Given the description of an element on the screen output the (x, y) to click on. 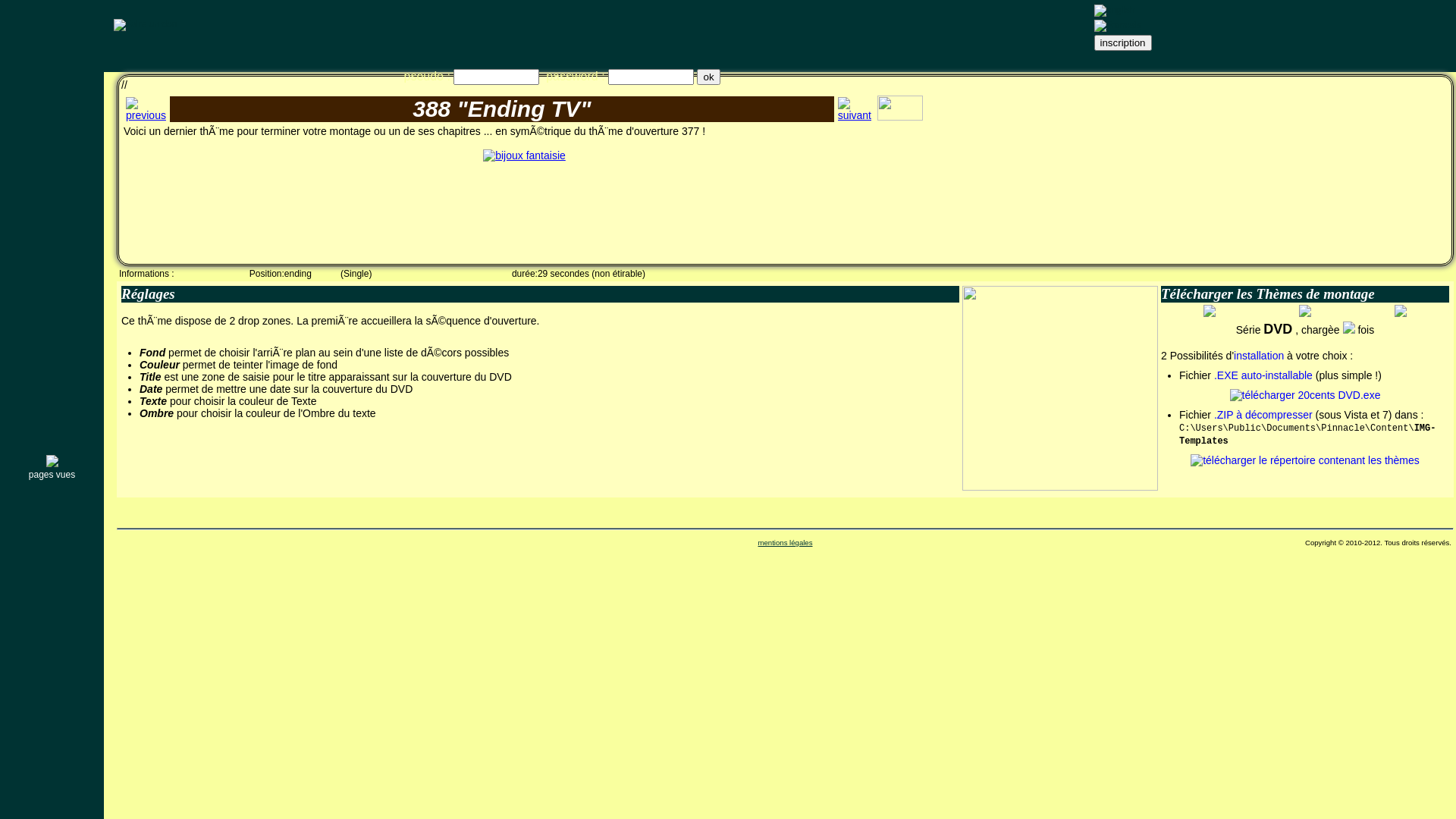
Bouton Menu DVD Element type: text (52, 280)
YouTube video player Element type: hover (1317, 175)
Francais Element type: hover (1116, 25)
faire un don Element type: hover (144, 24)
Demo Element type: text (52, 330)
Livre d'Or Element type: text (52, 380)
Tutoriels Element type: text (52, 230)
installation Element type: text (1258, 355)
F.A.Q Element type: text (52, 305)
Motion Title Element type: text (52, 155)
Quoi de neuf Element type: text (52, 104)
ok Element type: text (707, 76)
Accueil Element type: text (52, 79)
english Element type: hover (1113, 10)
.EXE auto-installable Element type: text (1263, 375)
inscription Element type: text (1122, 42)
Best Of Element type: text (52, 205)
previous Element type: hover (145, 109)
Liens Element type: text (52, 430)
